Given the description of an element on the screen output the (x, y) to click on. 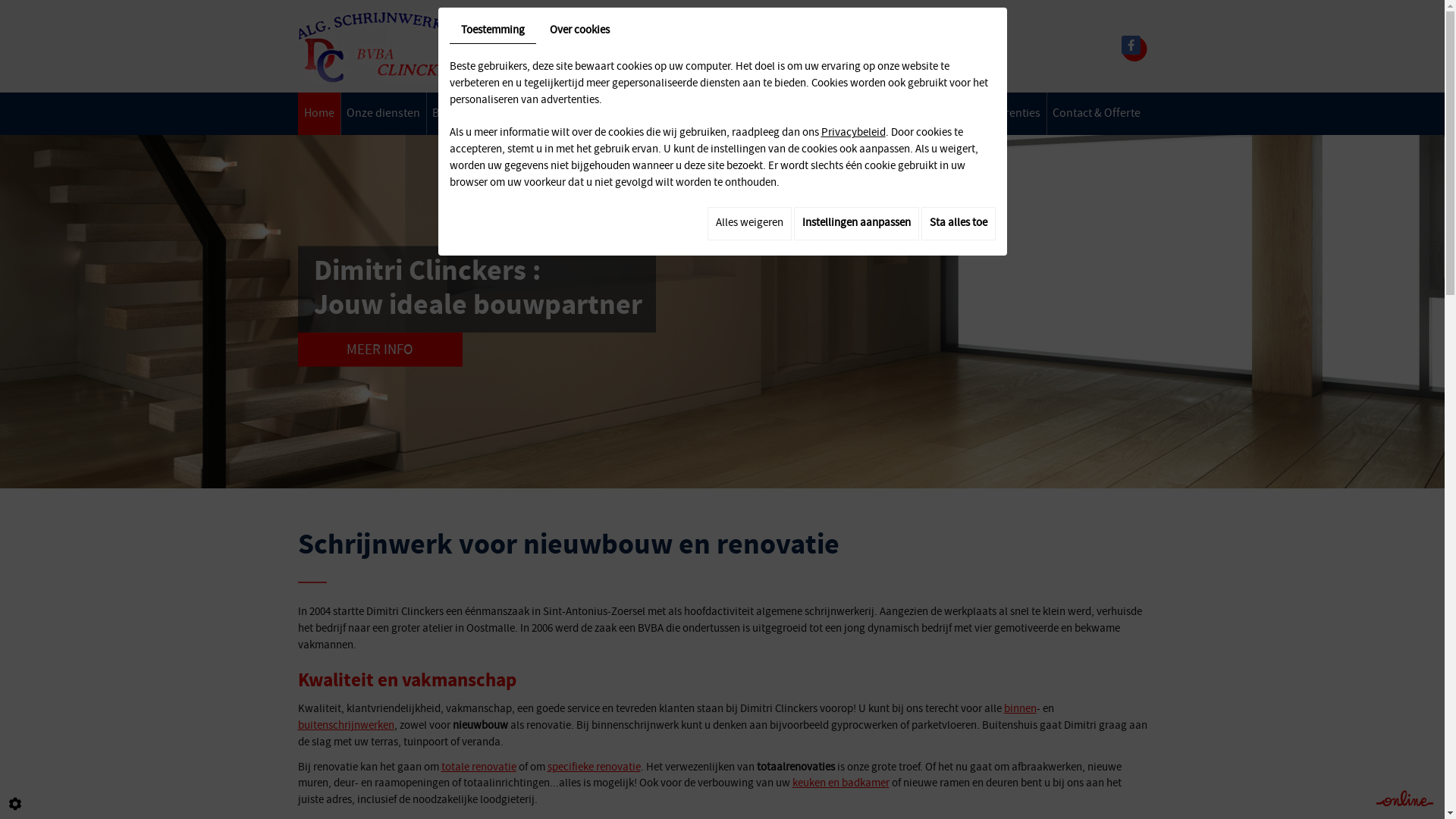
Binnenschrijnwerk Element type: text (480, 113)
Dimitri Clinckers - Oostmalle Element type: hover (387, 47)
buitenschrijnwerken Element type: text (345, 725)
Dimitri Clinckers :
Jouw ideale bouwpartner
MEER INFO Element type: text (476, 305)
Totale renovatie Element type: text (812, 113)
keuken en badkamer Element type: text (839, 782)
totale renovatie Element type: text (478, 767)
Toestemming Element type: text (491, 30)
binnen Element type: text (1020, 708)
Home Element type: text (319, 113)
Buitenschrijnwerk Element type: text (587, 113)
specifieke renovatie Element type: text (593, 767)
Contact & Offerte Element type: text (1096, 113)
Onze diensten Element type: text (383, 113)
Specifieke renovatie Element type: text (917, 113)
Instellingen aanpassen Element type: text (855, 223)
Privacybeleid Element type: text (852, 132)
Cookie-instelling bewerken Element type: text (14, 803)
Sta alles toe Element type: text (957, 223)
Over cookies Element type: text (579, 30)
Alles weigeren Element type: text (748, 223)
Facebook Element type: hover (1129, 44)
Keukens & Badkamers Element type: text (702, 113)
Referenties Element type: text (1010, 113)
